Given the description of an element on the screen output the (x, y) to click on. 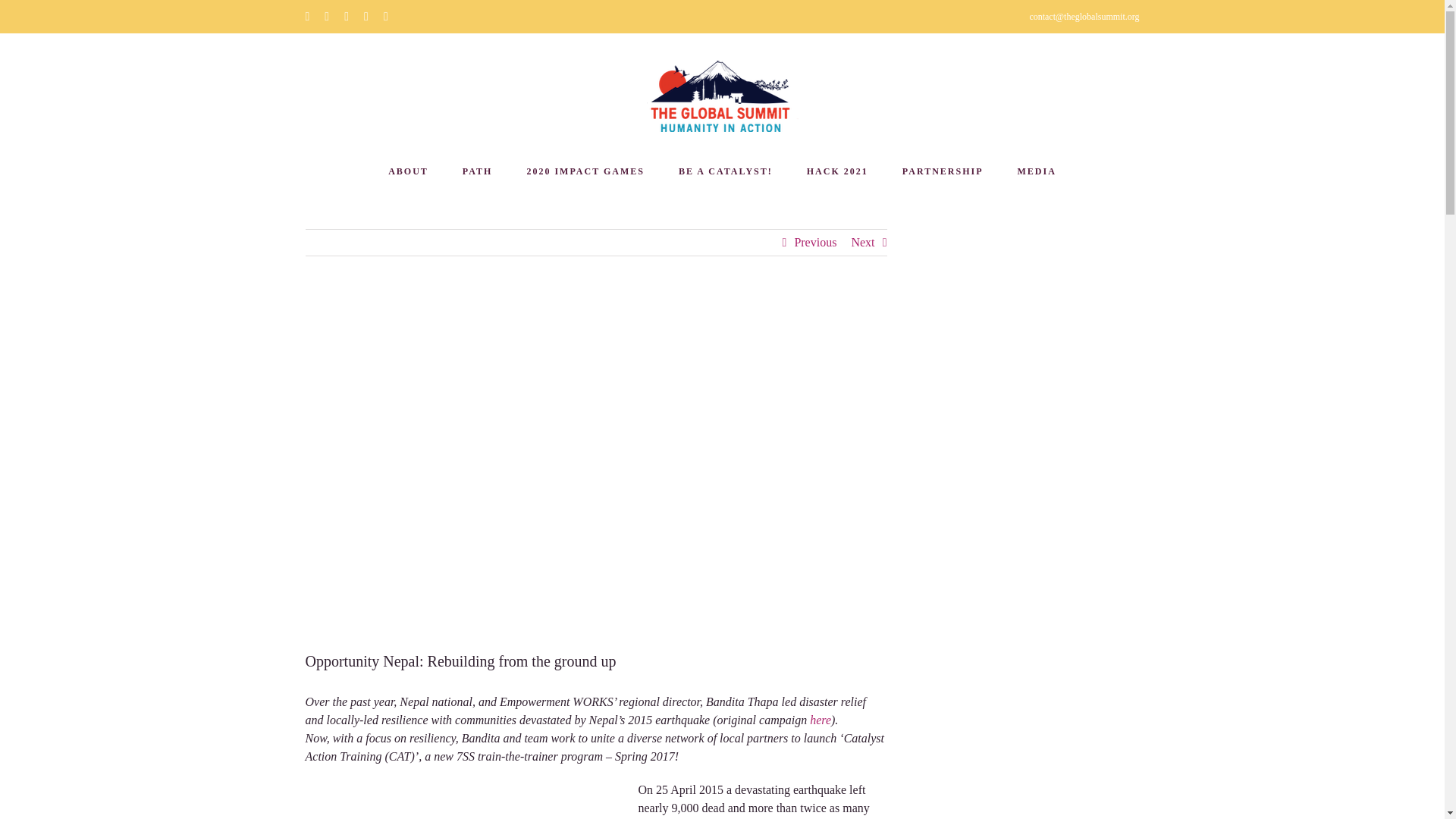
HACK 2021 (837, 171)
2020 IMPACT GAMES (585, 171)
ABOUT (408, 171)
BE A CATALYST! (725, 171)
MEDIA (1036, 171)
PATH (477, 171)
PARTNERSHIP (942, 171)
